Given the description of an element on the screen output the (x, y) to click on. 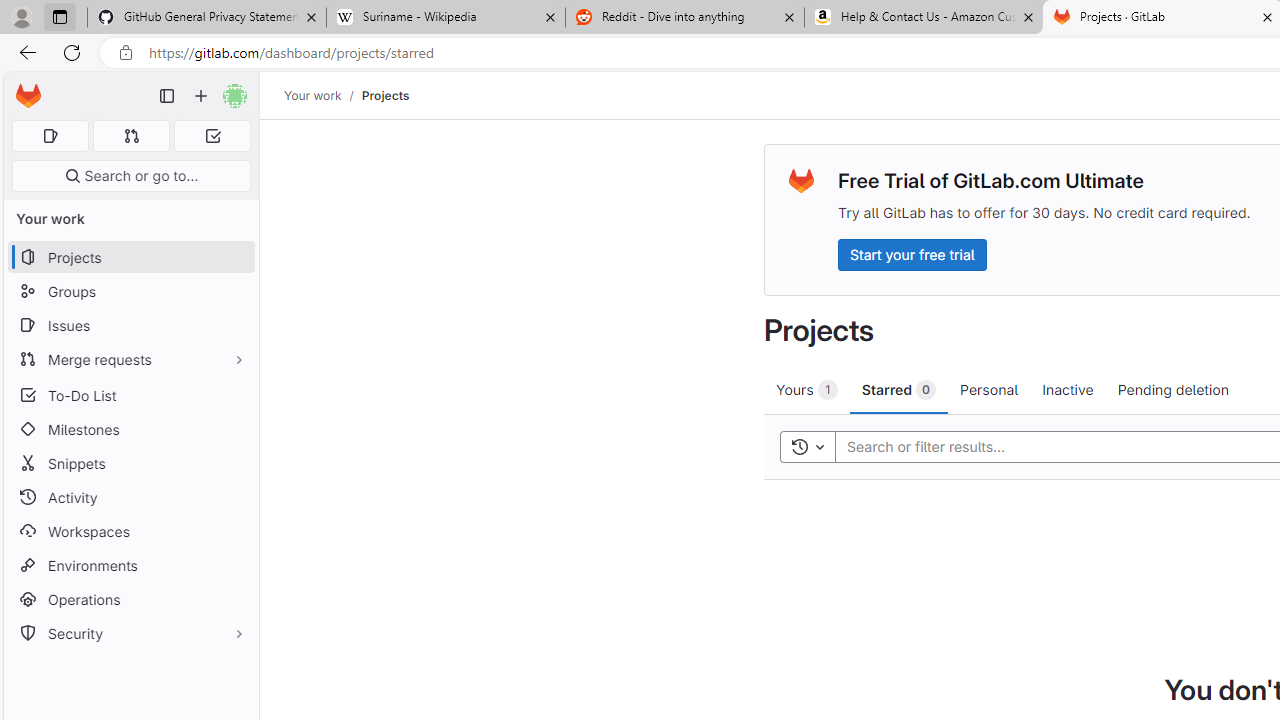
Milestones (130, 429)
Assigned issues 0 (50, 136)
Personal (989, 389)
To-Do list 0 (212, 136)
Snippets (130, 463)
Environments (130, 564)
Security (130, 633)
